Given the description of an element on the screen output the (x, y) to click on. 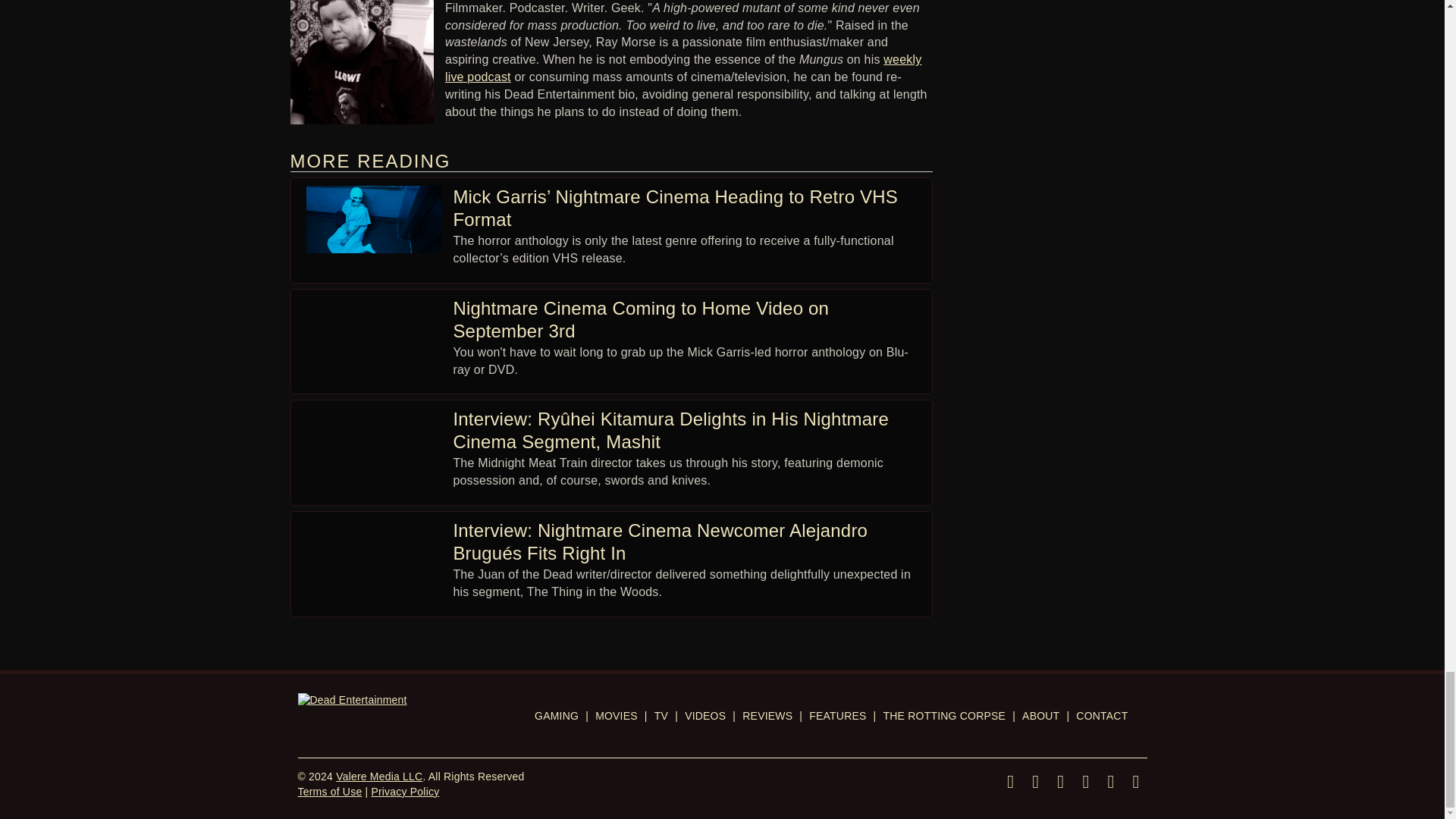
weekly live podcast (683, 68)
